Given the description of an element on the screen output the (x, y) to click on. 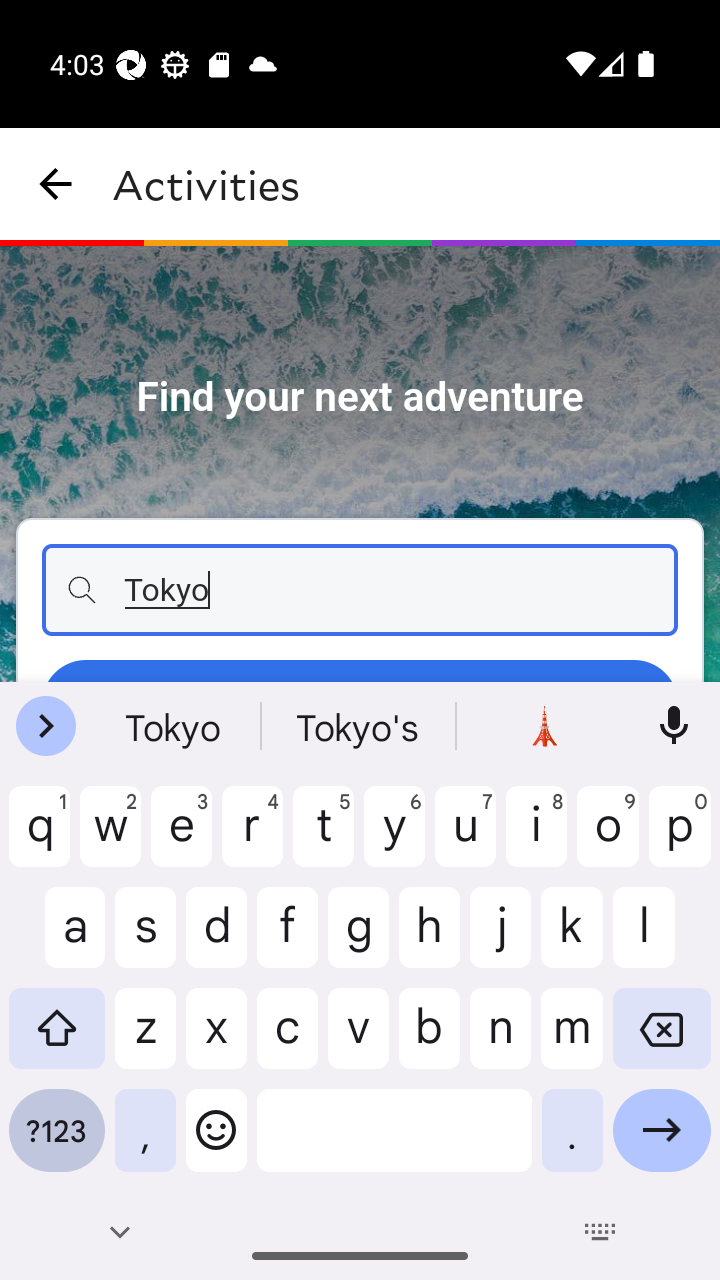
navigation_button (56, 184)
Find your next adventure   Tokyo Search (360, 463)
Tokyo (359, 590)
